Given the description of an element on the screen output the (x, y) to click on. 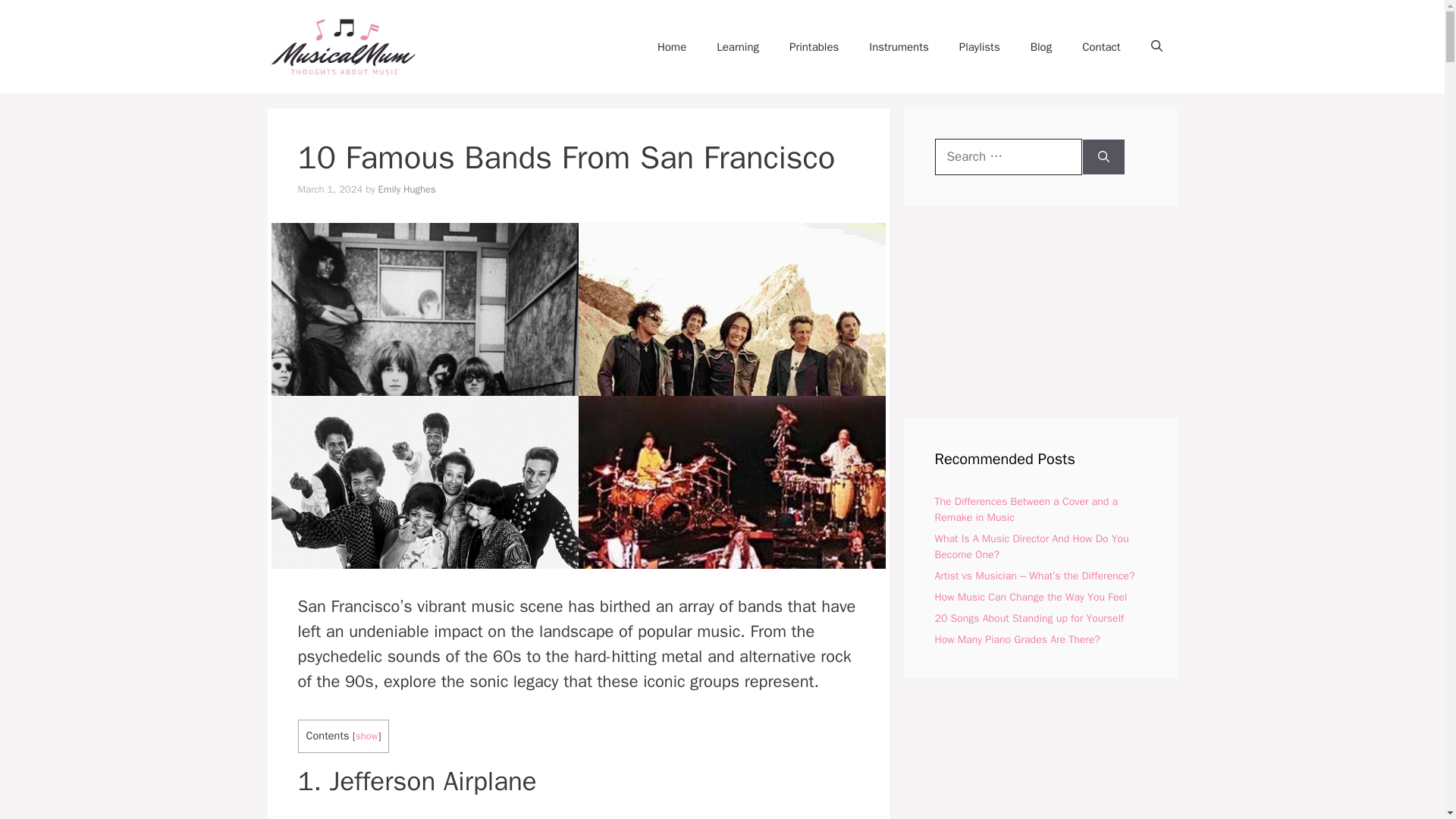
Playlists (978, 46)
Learning (737, 46)
Emily Hughes (406, 188)
show (366, 735)
Printables (813, 46)
Blog (1040, 46)
Instruments (898, 46)
Contact (1101, 46)
View all posts by Emily Hughes (406, 188)
Home (671, 46)
